Given the description of an element on the screen output the (x, y) to click on. 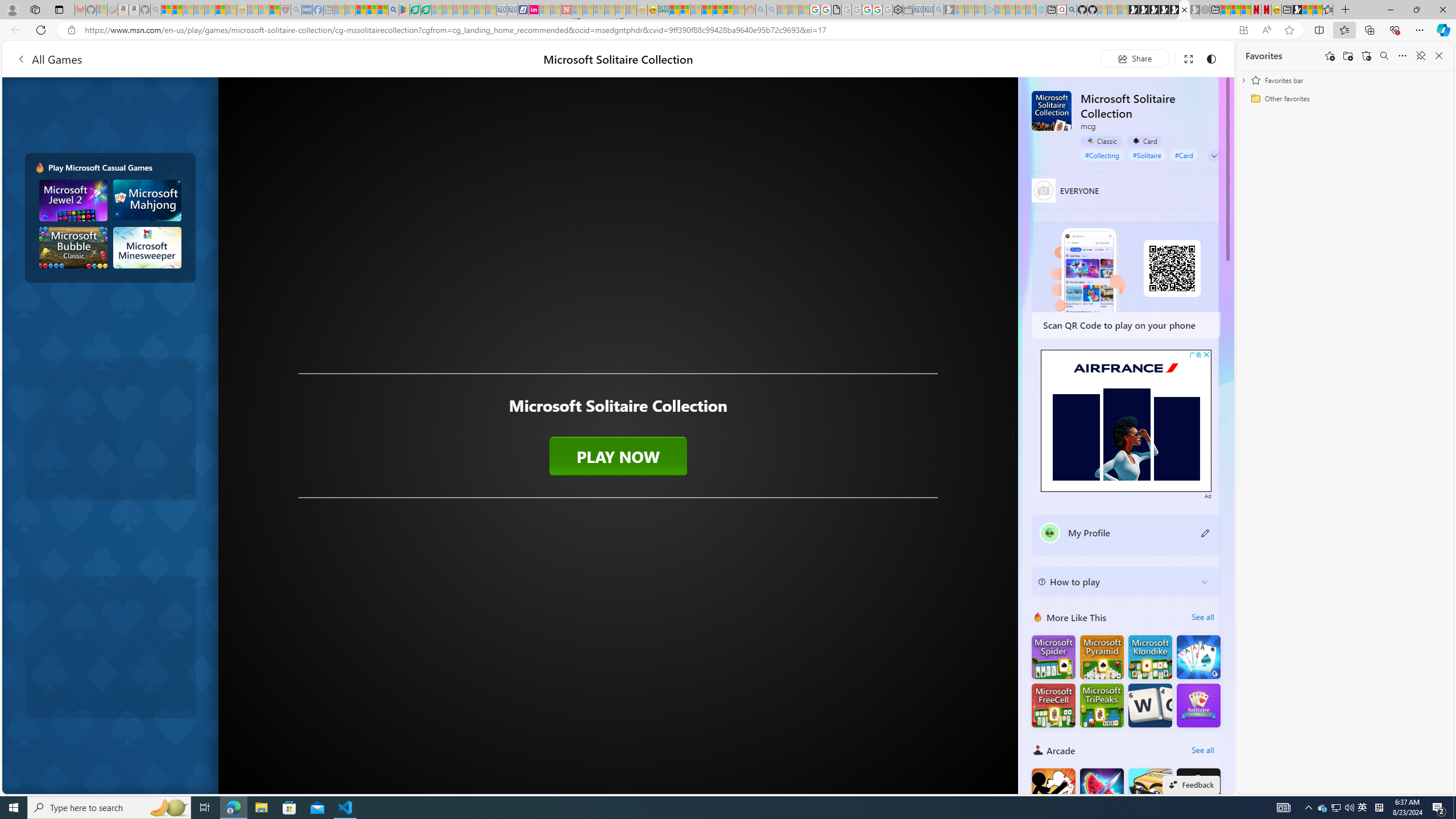
Share (1134, 58)
#Card (1184, 155)
How to play (1116, 581)
Class: control (1214, 155)
Search favorites (1383, 55)
Microsoft Start Gaming - Sleeping (949, 9)
